Given the description of an element on the screen output the (x, y) to click on. 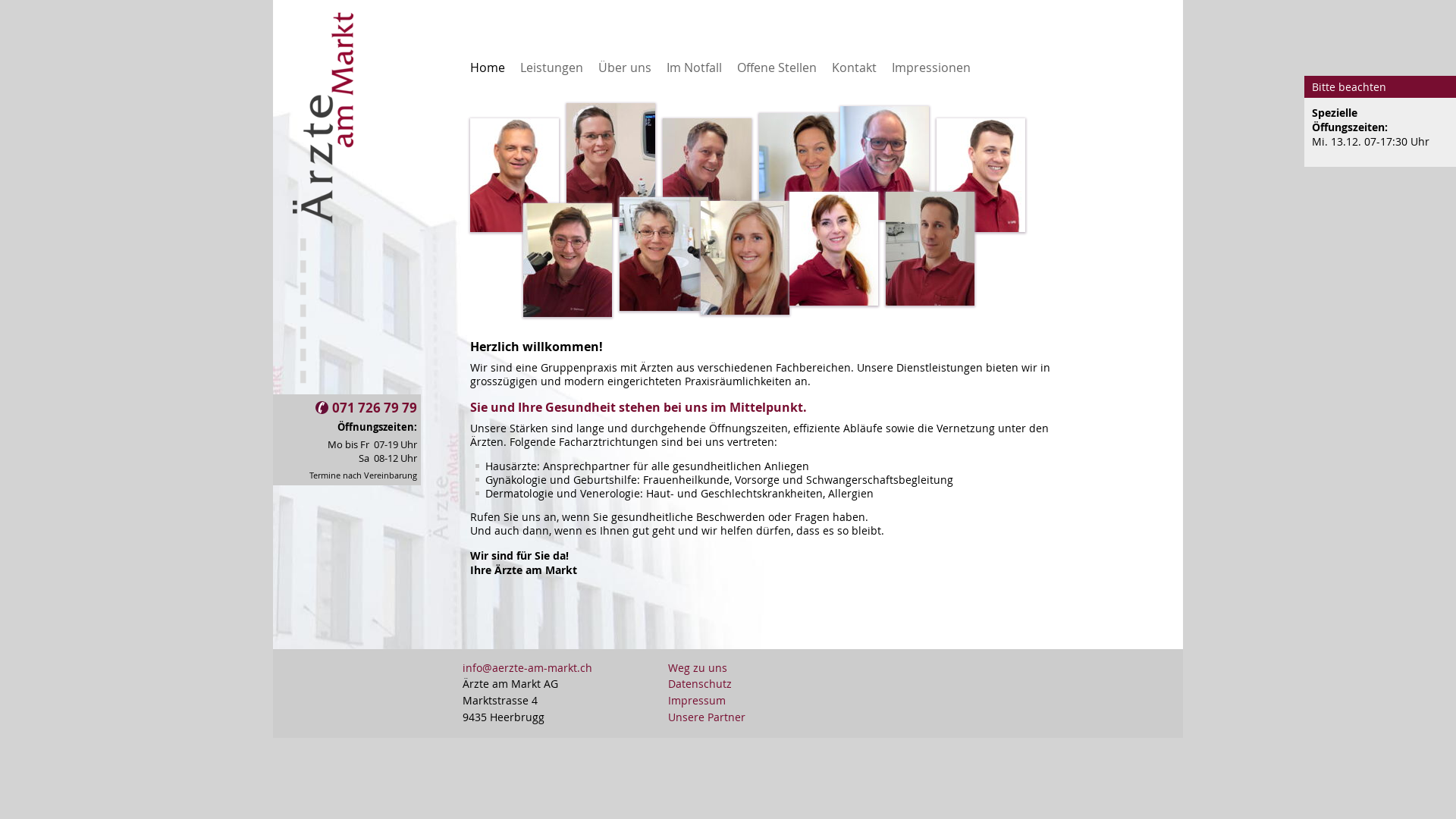
Dr. Bettina Steinmann Element type: hover (567, 313)
Offene Stellen Element type: text (776, 67)
Impressum Element type: text (706, 701)
  Element type: text (461, 75)
Im Notfall Element type: text (693, 67)
Zur Startseite Element type: hover (322, 387)
Unsere Partner Element type: text (706, 717)
Dr. Irina Kasiman Element type: hover (833, 301)
Edward Frisbie Element type: hover (706, 228)
Kontakt Element type: text (854, 67)
Leistungen Element type: text (551, 67)
Dr. Martin Micheluzzi Element type: hover (929, 301)
Datenschutz Element type: text (706, 684)
info@aerzte-am-markt.ch Element type: text (527, 667)
Dr. Verena Felizeter Element type: hover (744, 310)
Dr. Helene Lotz Element type: hover (803, 222)
Weg zu uns Element type: text (706, 668)
Impressionen Element type: text (931, 67)
Dr. Ralf Kunas Element type: hover (514, 228)
